Given the description of an element on the screen output the (x, y) to click on. 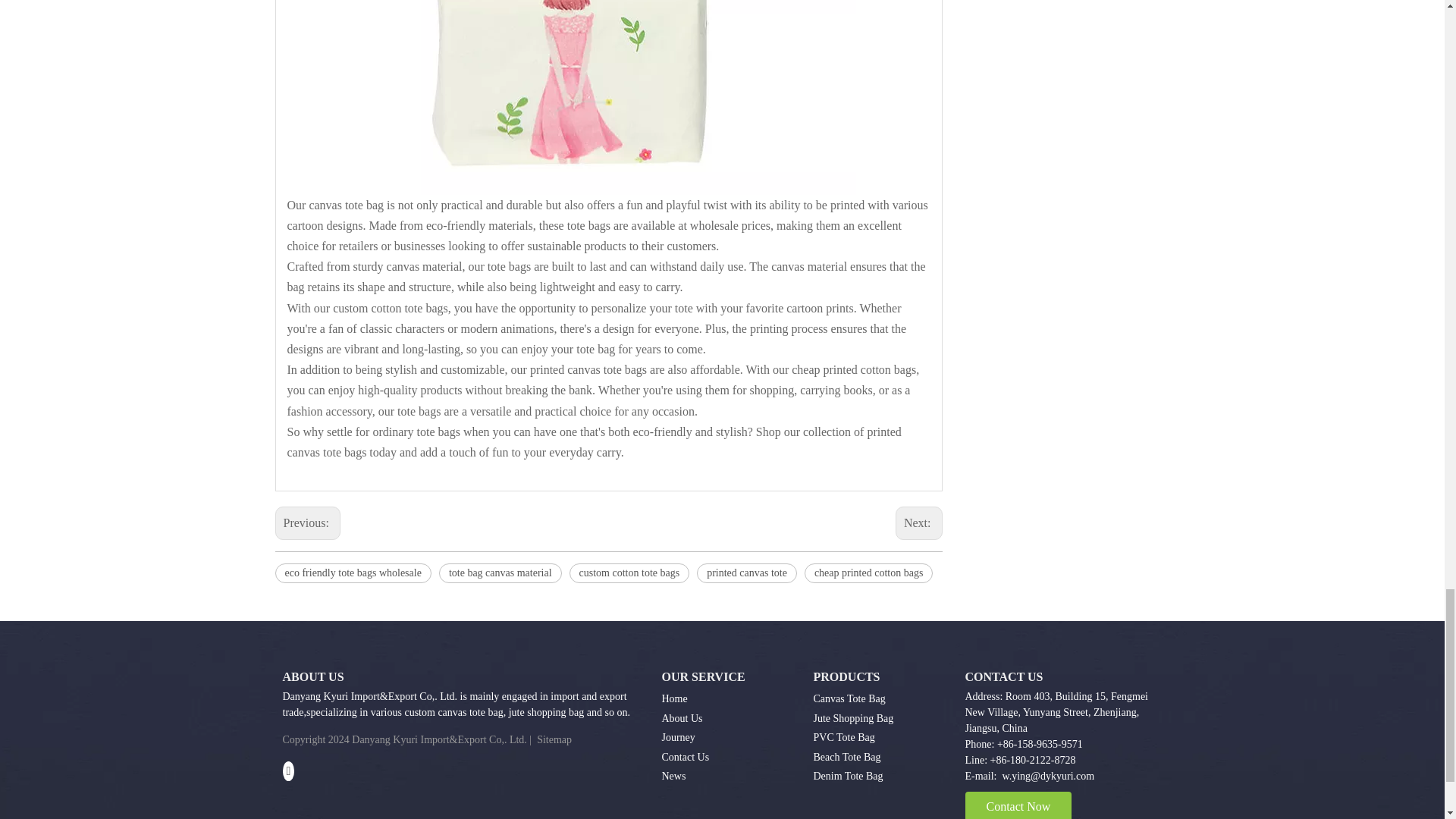
Canvas Tote Bag (848, 698)
Beach Tote Bag (846, 756)
About Us (681, 717)
tote bag canvas material (500, 573)
Journey (677, 737)
cheap printed cotton bags (869, 573)
Contact Us (685, 756)
News (673, 776)
Home (674, 698)
printed canvas tote (746, 573)
Canvas Tote Bag (848, 698)
News (673, 776)
Denim Tote Bag (847, 776)
custom cotton tote bags (629, 573)
Contact Us (685, 756)
